Given the description of an element on the screen output the (x, y) to click on. 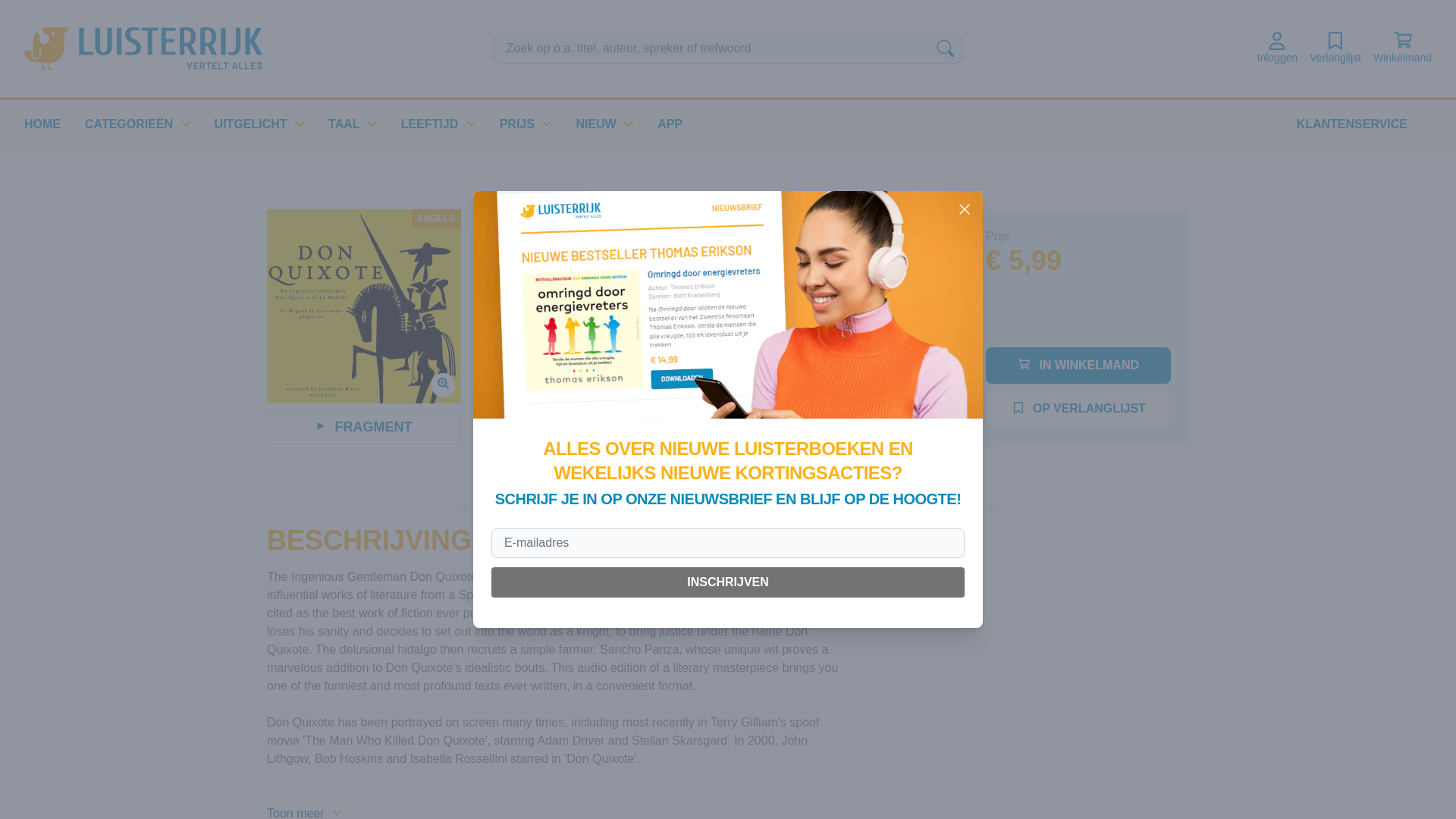
HOME (42, 124)
Inloggen (1277, 48)
Winkelmand (1402, 48)
Zoek (945, 48)
Verlanglijst (1334, 48)
Luisterrijk - vertelt alles (143, 48)
